Given the description of an element on the screen output the (x, y) to click on. 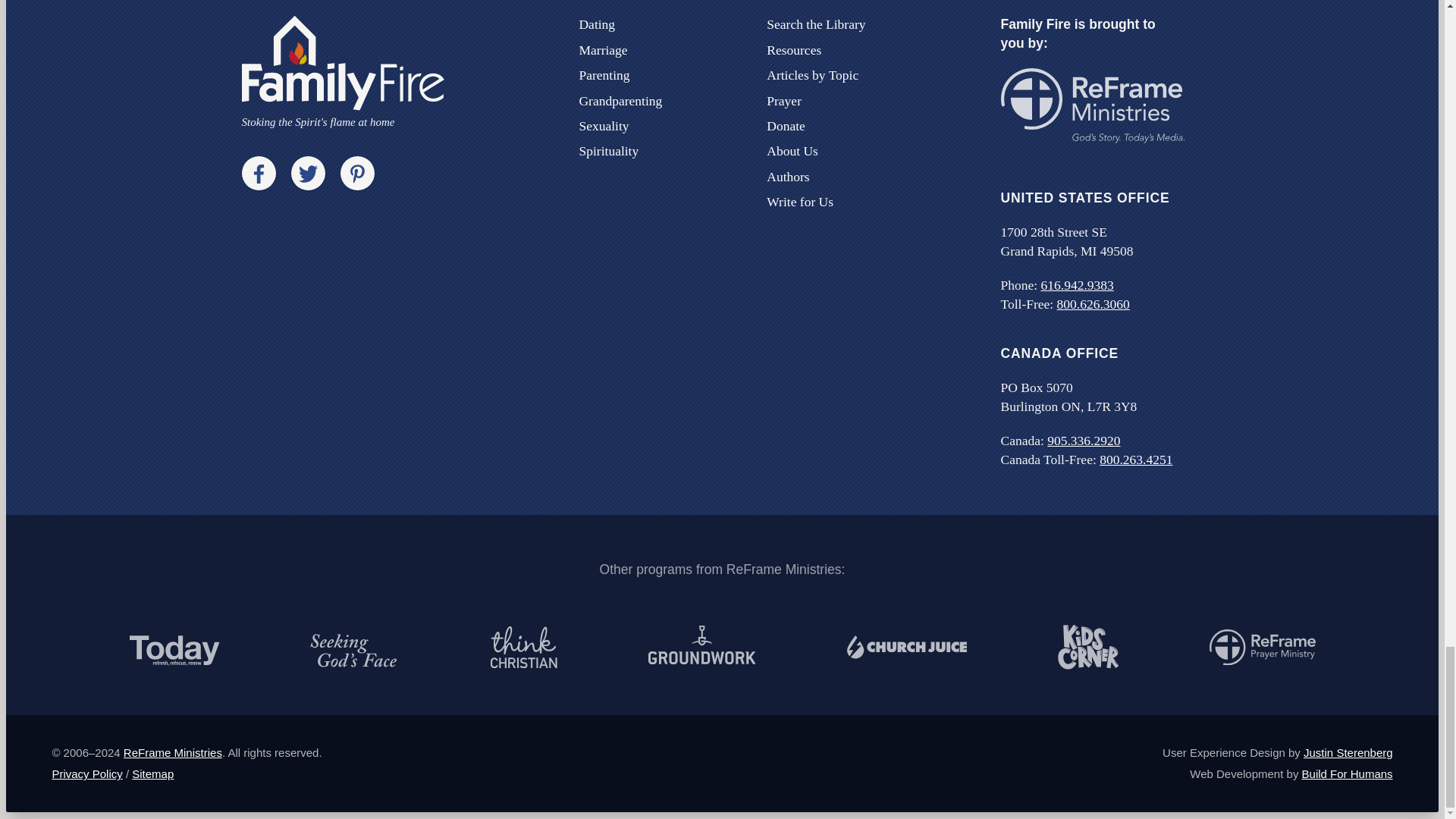
Dating (596, 23)
Family Fire on Twitter (307, 173)
Articles by Topic (813, 74)
ReFrame Ministries: God's story. Today's media. (1093, 105)
Family Fire on Facebook (258, 173)
Church Juice - Energizing Church Communications (905, 646)
Donate (786, 125)
Family Fire (342, 72)
Search the Library (815, 23)
Family Fire on Twitter (307, 173)
Stoking the Spirit's flame at home (342, 72)
Marriage (602, 49)
Family Fire on Pinterest (356, 173)
Spirituality (608, 150)
Prayer (784, 100)
